Given the description of an element on the screen output the (x, y) to click on. 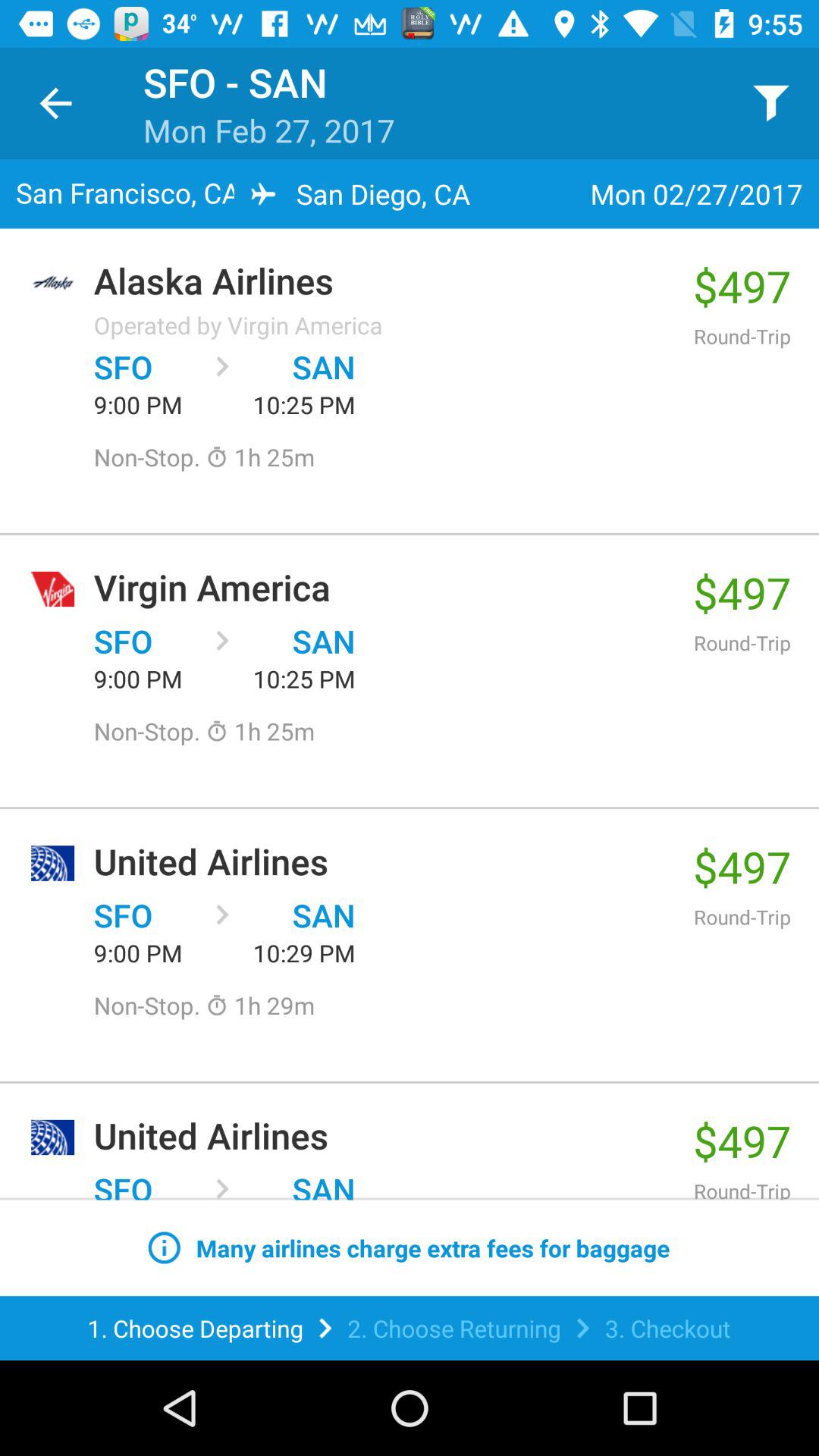
select item next to sfo - san (55, 103)
